Given the description of an element on the screen output the (x, y) to click on. 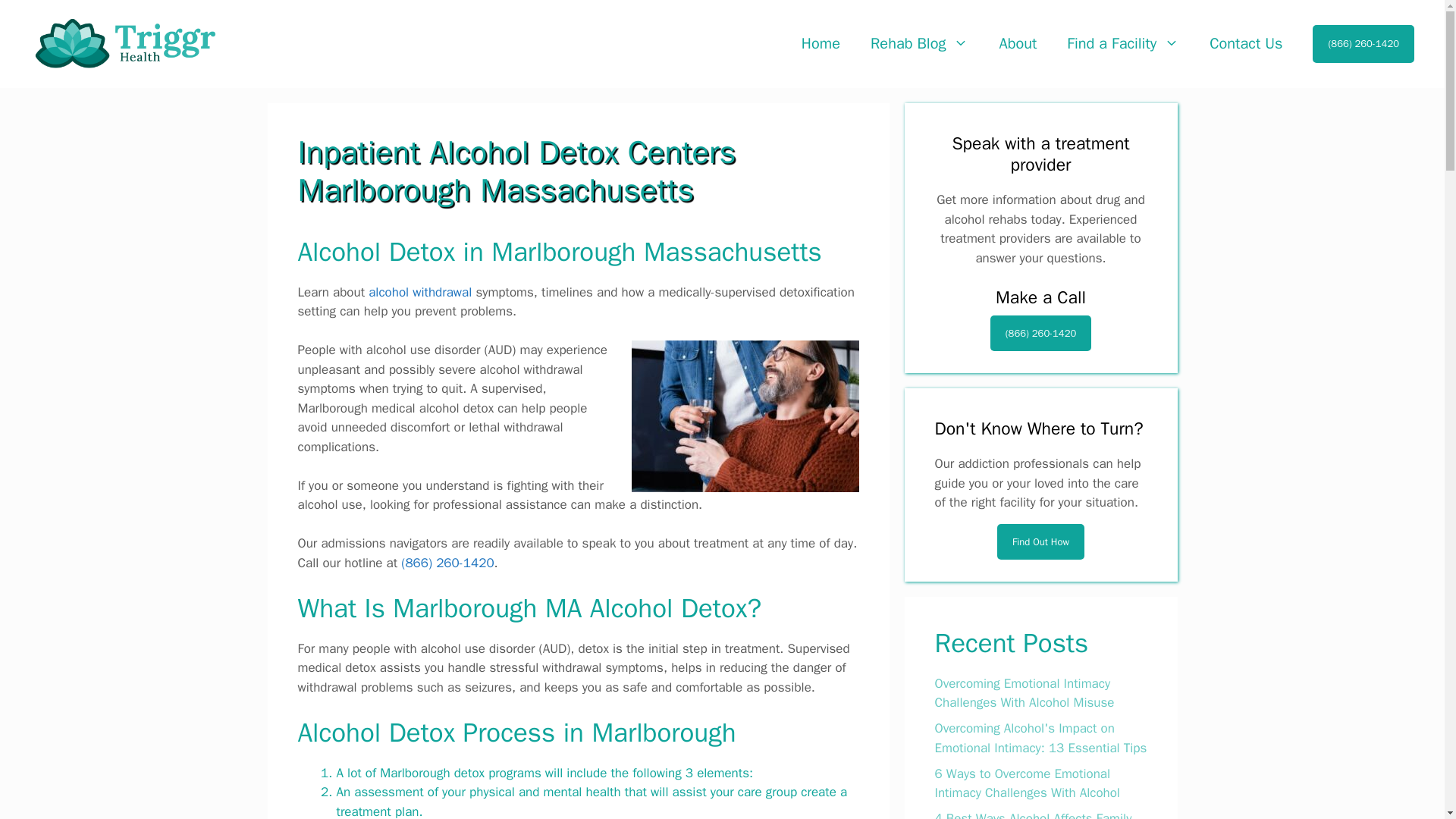
alcohol withdrawal (419, 292)
Home (821, 43)
Contact Us (1245, 43)
Overcoming Emotional Intimacy Challenges With Alcohol Misuse (1023, 693)
About (1017, 43)
Find a Facility (1122, 43)
4 Best Ways Alcohol Affects Family Dynamics (1032, 814)
Rehab Blog (920, 43)
